Given the description of an element on the screen output the (x, y) to click on. 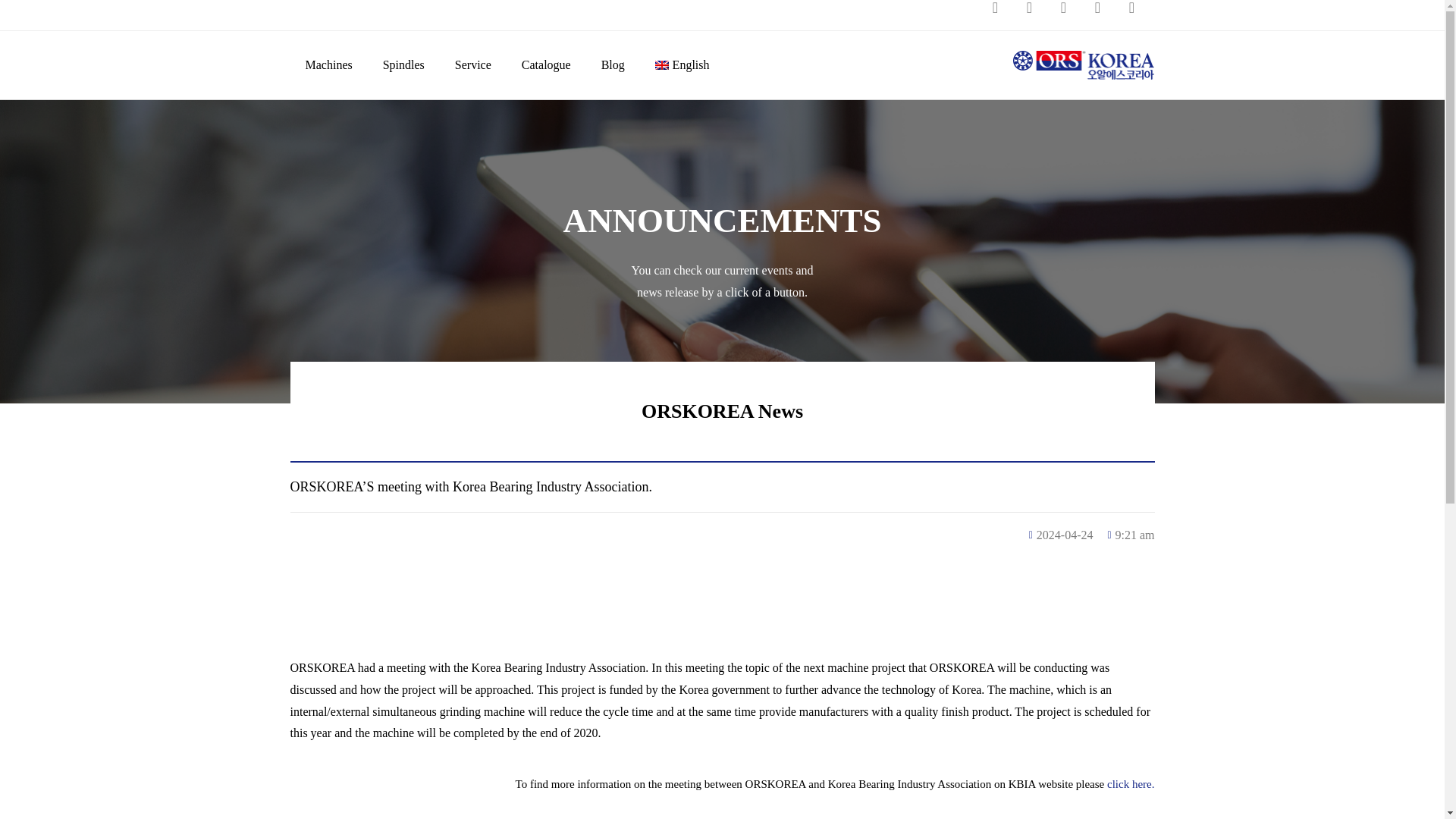
Spindles (403, 64)
English (682, 64)
Catalogue (546, 64)
English (682, 64)
Blog (613, 64)
Service (472, 64)
Machines (327, 64)
